Given the description of an element on the screen output the (x, y) to click on. 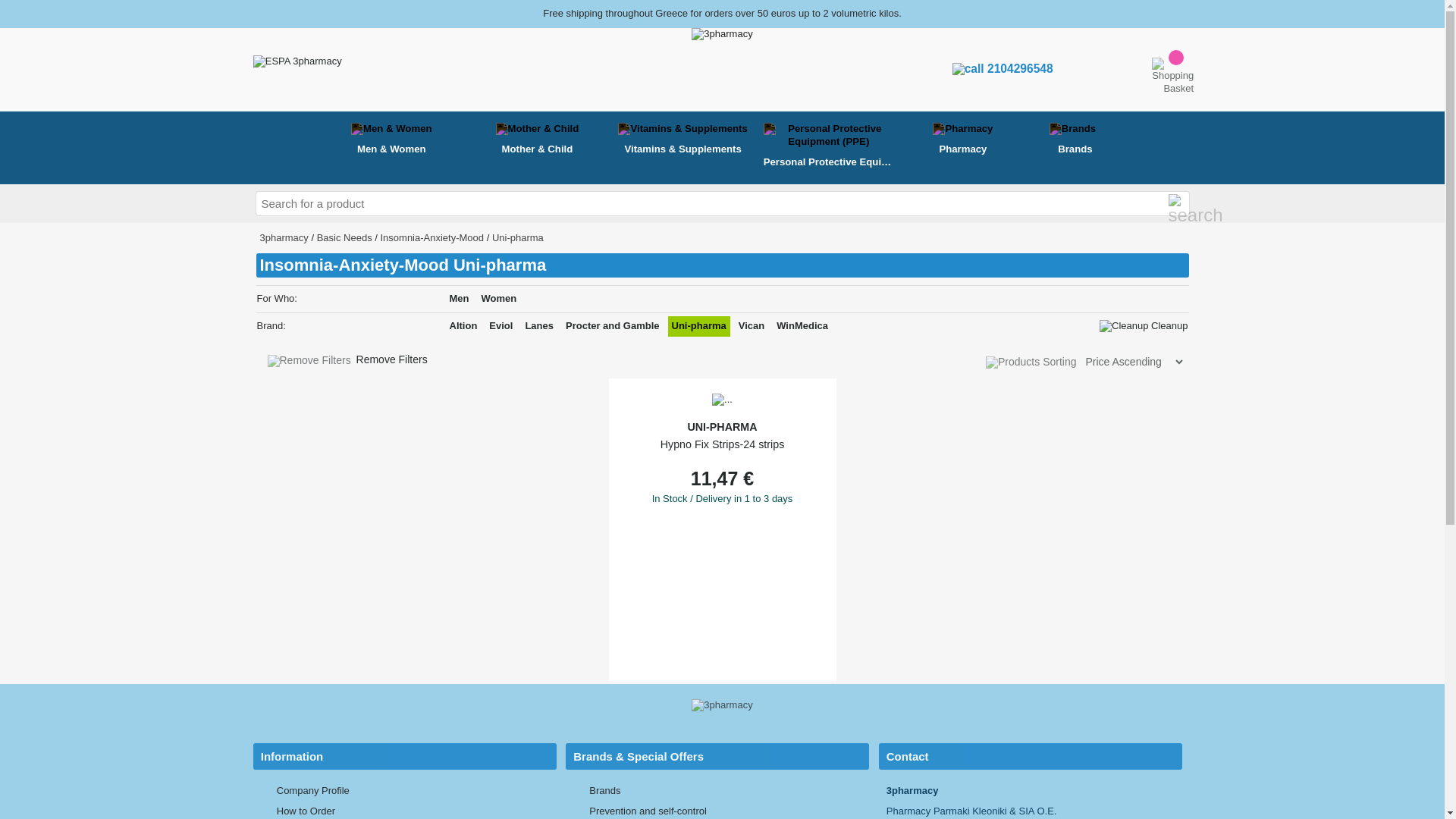
Pharmacy (962, 140)
2104296548 (1002, 68)
Hypno Fix Strips-24 strips (721, 399)
Call (1046, 69)
Brands (1075, 140)
Shopping Basket (1163, 69)
